Given the description of an element on the screen output the (x, y) to click on. 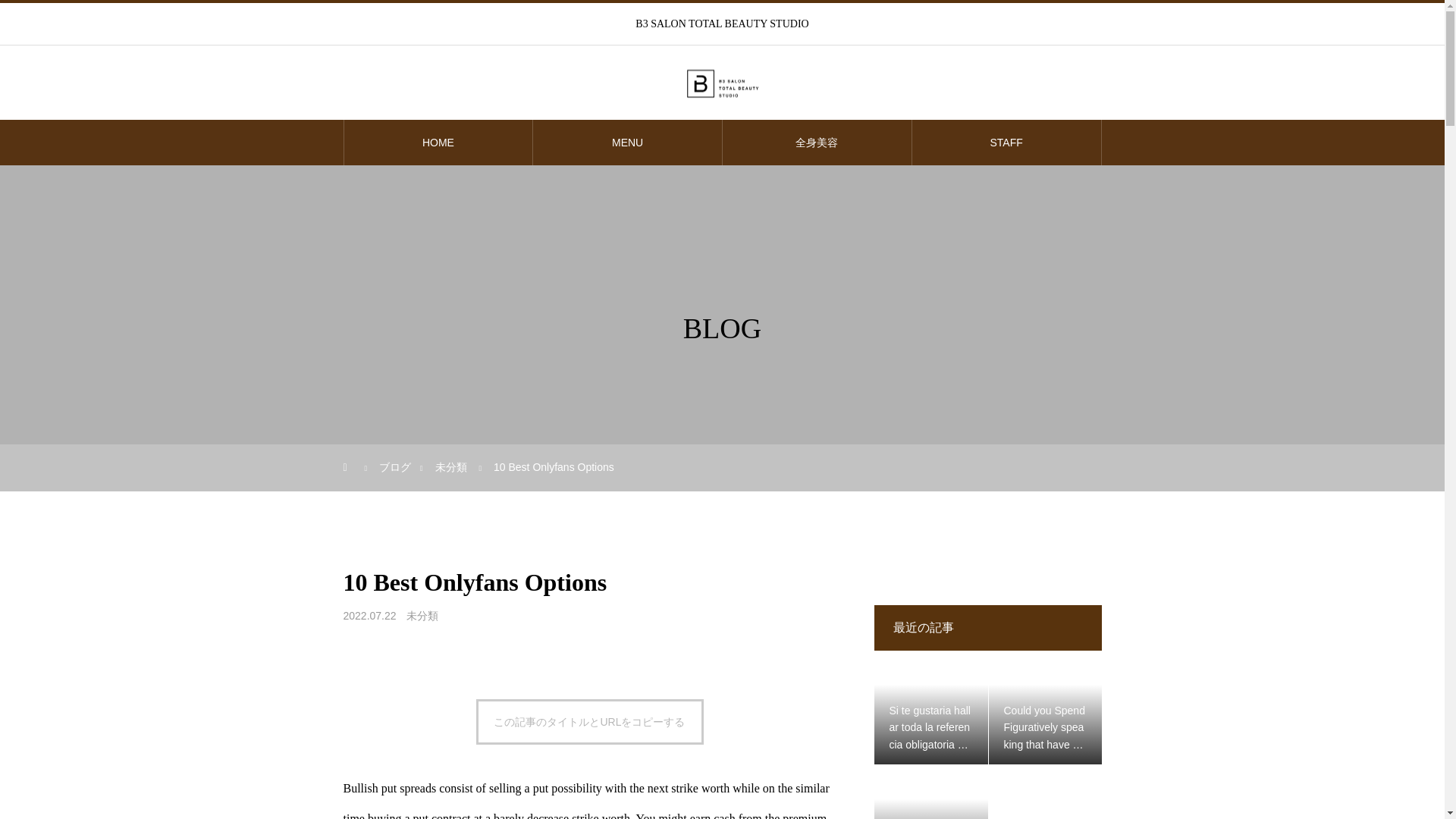
HOME (437, 142)
B3-SALON (721, 83)
STAFF (1006, 142)
B3-SALON (722, 83)
MENU (627, 142)
